Given the description of an element on the screen output the (x, y) to click on. 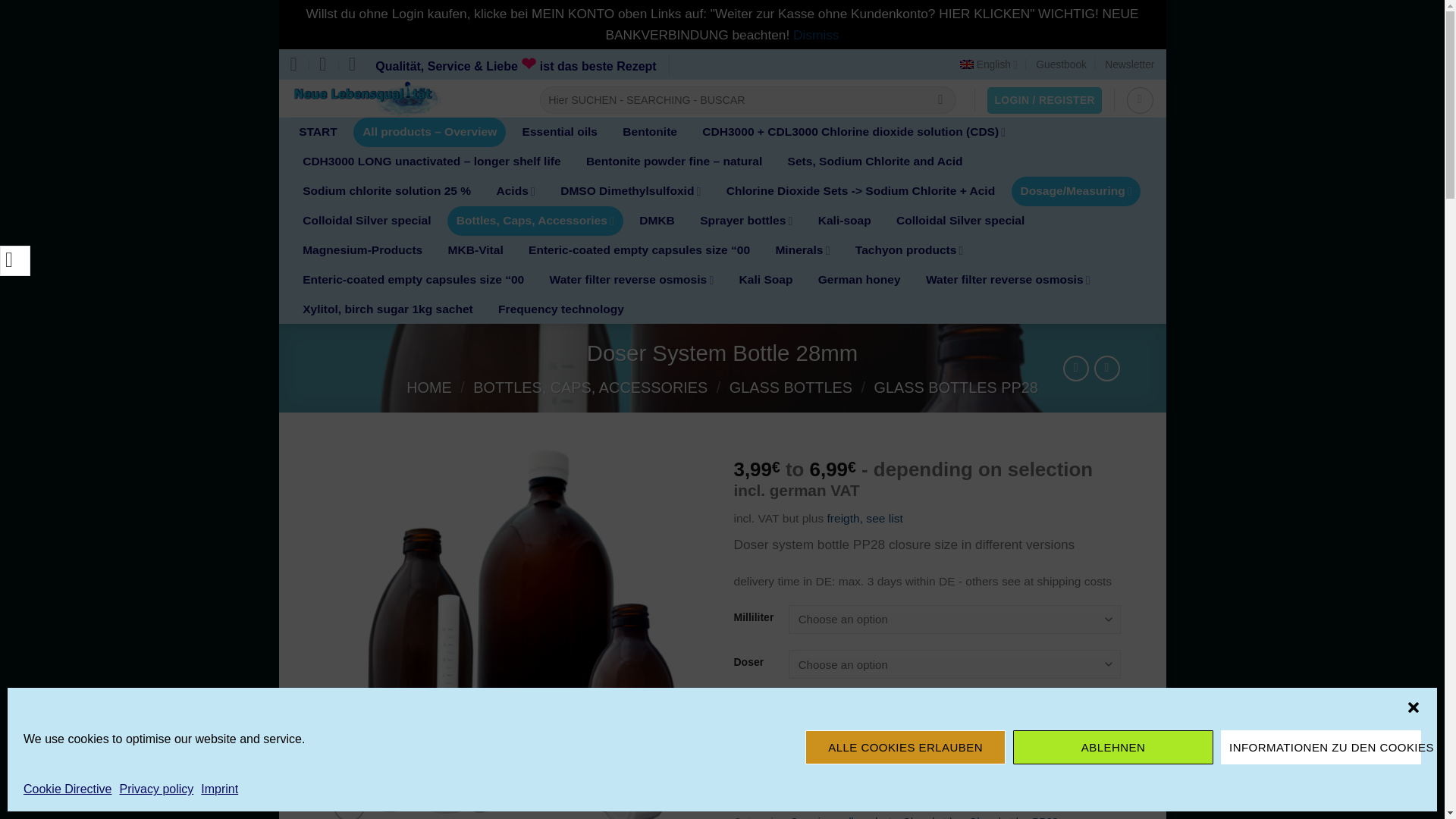
Cookie Directive (67, 789)
1 (767, 722)
Bentonite (649, 132)
Dismiss (815, 34)
Imprint (219, 789)
START (317, 132)
Privacy policy (156, 789)
Essential oils (560, 132)
